Given the description of an element on the screen output the (x, y) to click on. 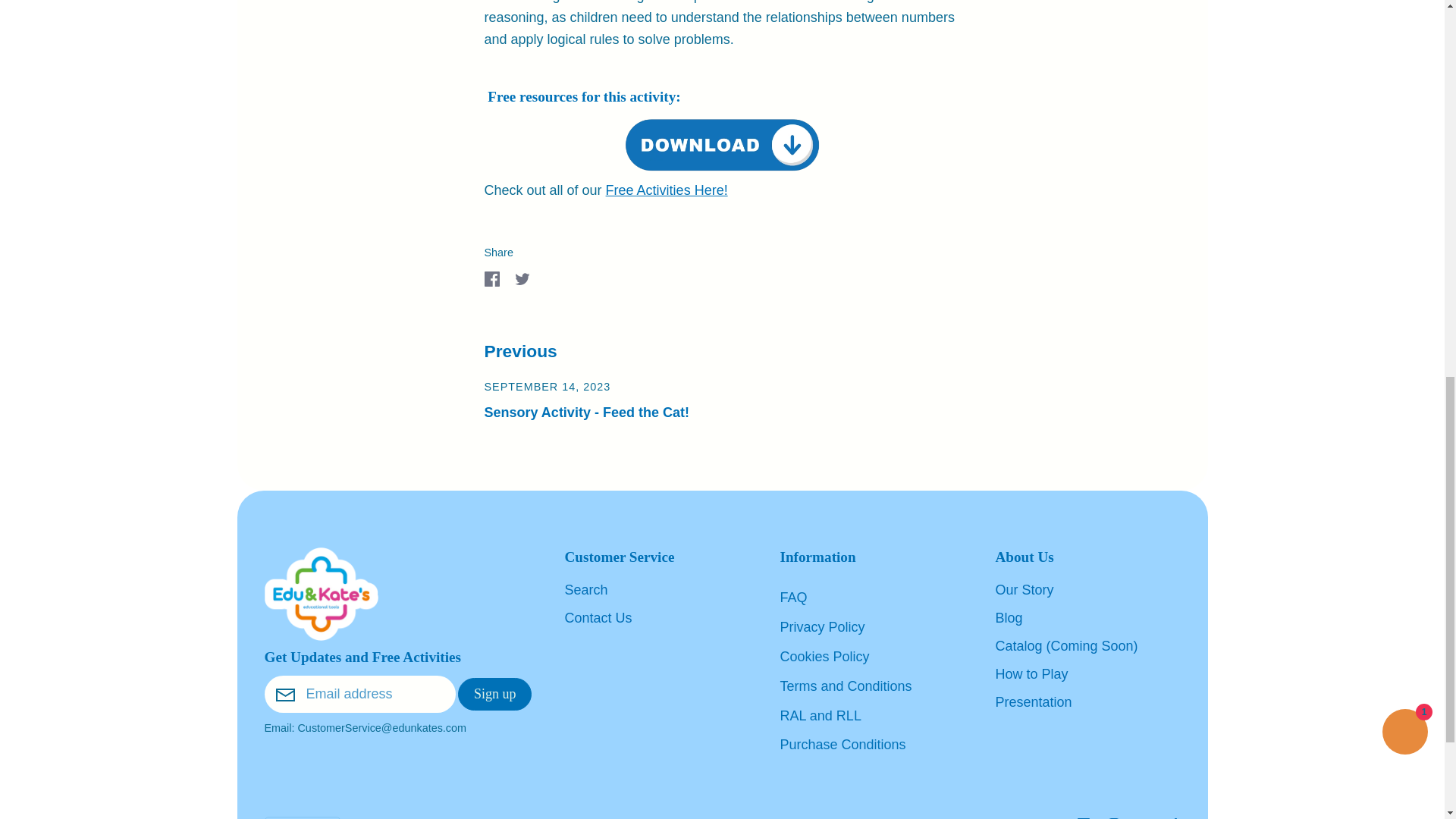
Sensory Activity - Feed the Cat! (585, 412)
Terms of Service (844, 685)
Math Activity - Add Up the Fruits (721, 143)
Share on Twitter (521, 278)
Privacy Policy (821, 626)
Free Activities (666, 190)
Cookies Policy (823, 656)
Contact Us (597, 618)
Share on Facebook (491, 278)
Free Activities Here! (666, 190)
Sign up (495, 694)
Search (585, 590)
